Given the description of an element on the screen output the (x, y) to click on. 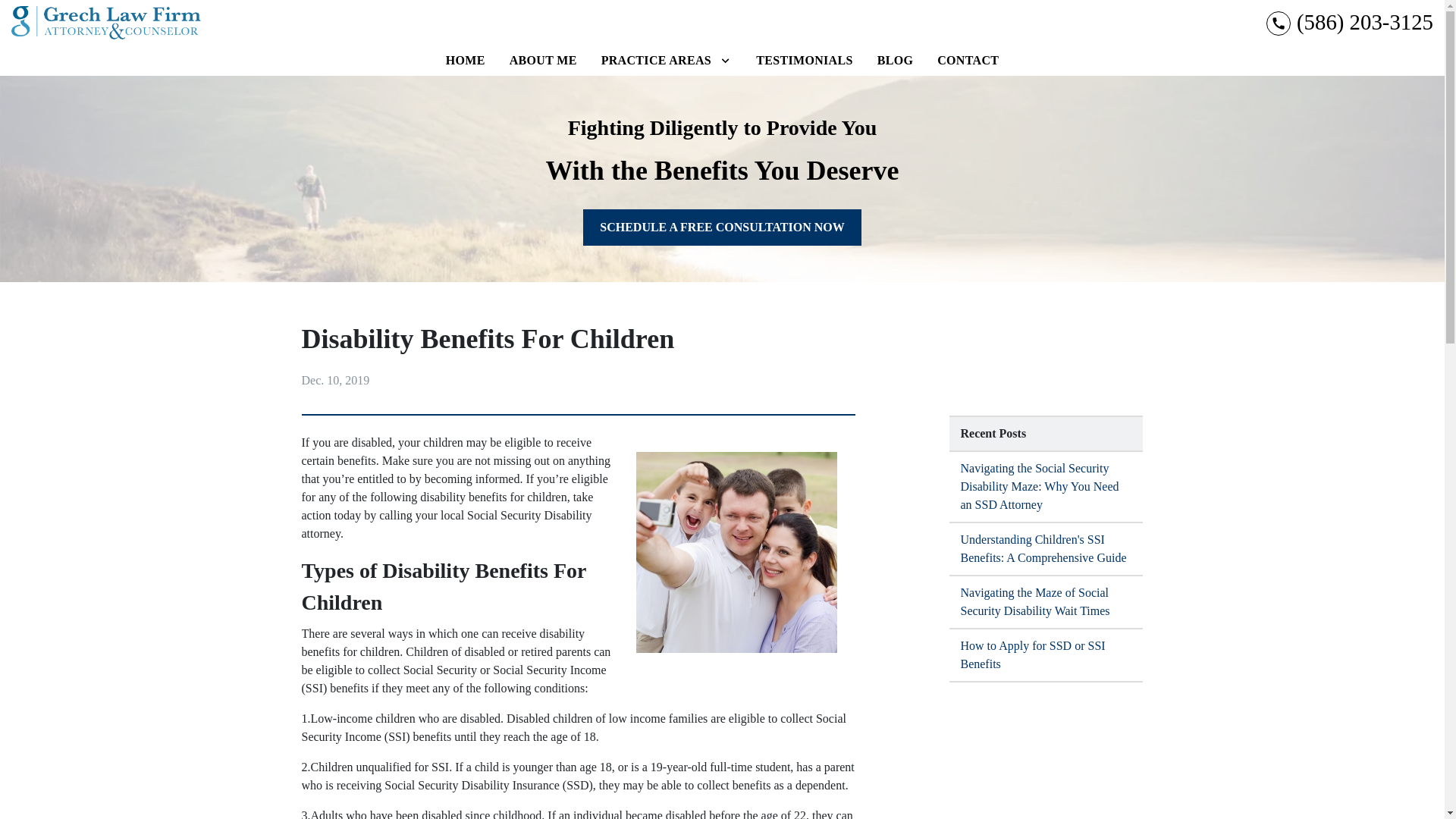
PRACTICE AREAS (656, 60)
CONTACT (967, 60)
Understanding Children's SSI Benefits: A Comprehensive Guide (1045, 549)
SCHEDULE A FREE CONSULTATION NOW (721, 227)
HOME (465, 60)
BLOG (895, 60)
TESTIMONIALS (804, 60)
How to Apply for SSD or SSI Benefits (1045, 655)
ABOUT ME (543, 60)
Navigating the Maze of Social Security Disability Wait Times (1045, 602)
